Given the description of an element on the screen output the (x, y) to click on. 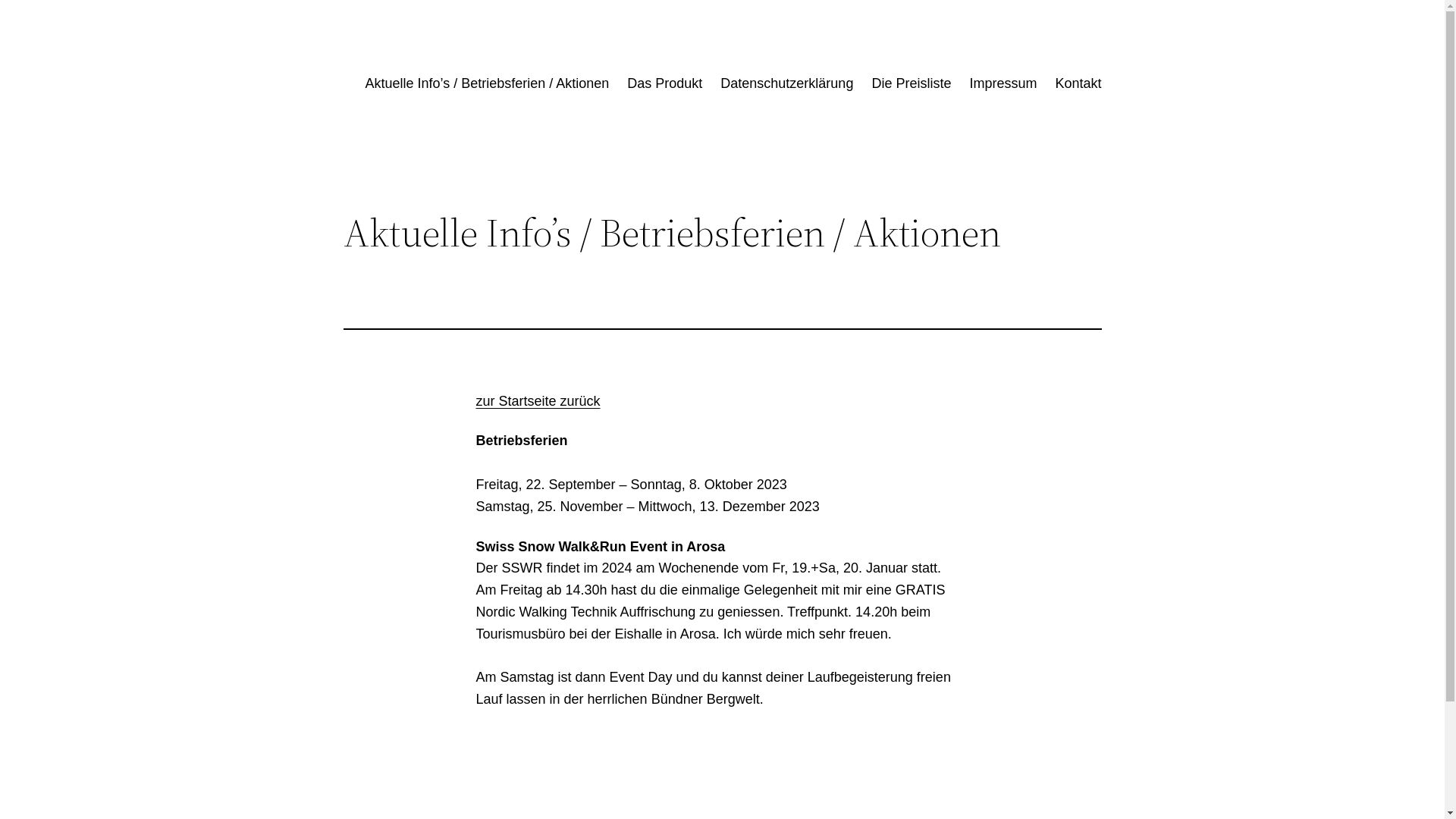
Die Preisliste Element type: text (910, 83)
Impressum Element type: text (1002, 83)
Kontakt Element type: text (1077, 83)
Das Produkt Element type: text (664, 83)
